Given the description of an element on the screen output the (x, y) to click on. 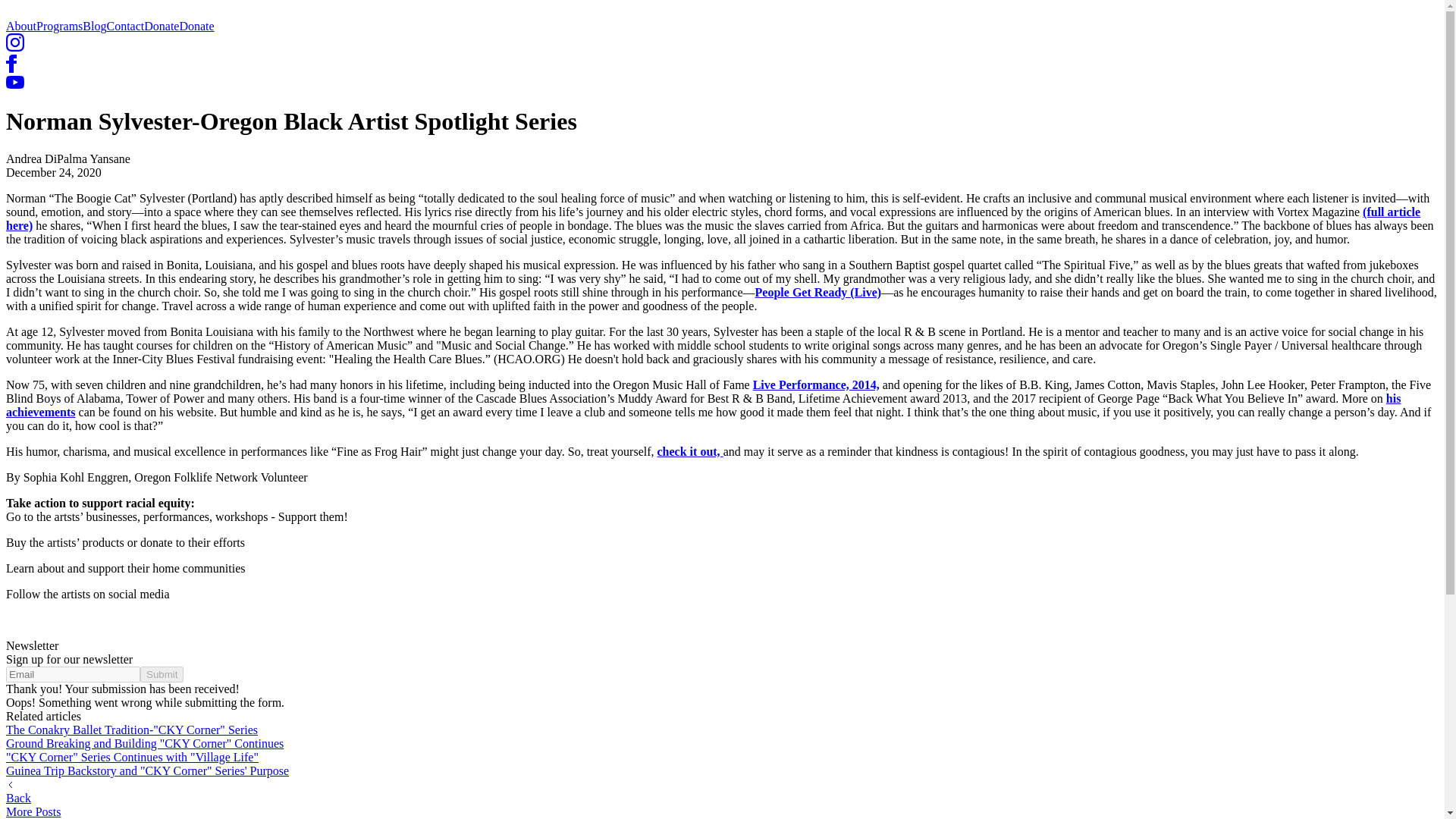
Donate (161, 25)
Submit (161, 674)
Blog (94, 25)
his achievements (702, 405)
Programs (59, 25)
Live Performance, 2014, (815, 384)
Contact (125, 25)
Submit (161, 674)
Donate (196, 25)
check it out, (690, 451)
About (20, 25)
